Given the description of an element on the screen output the (x, y) to click on. 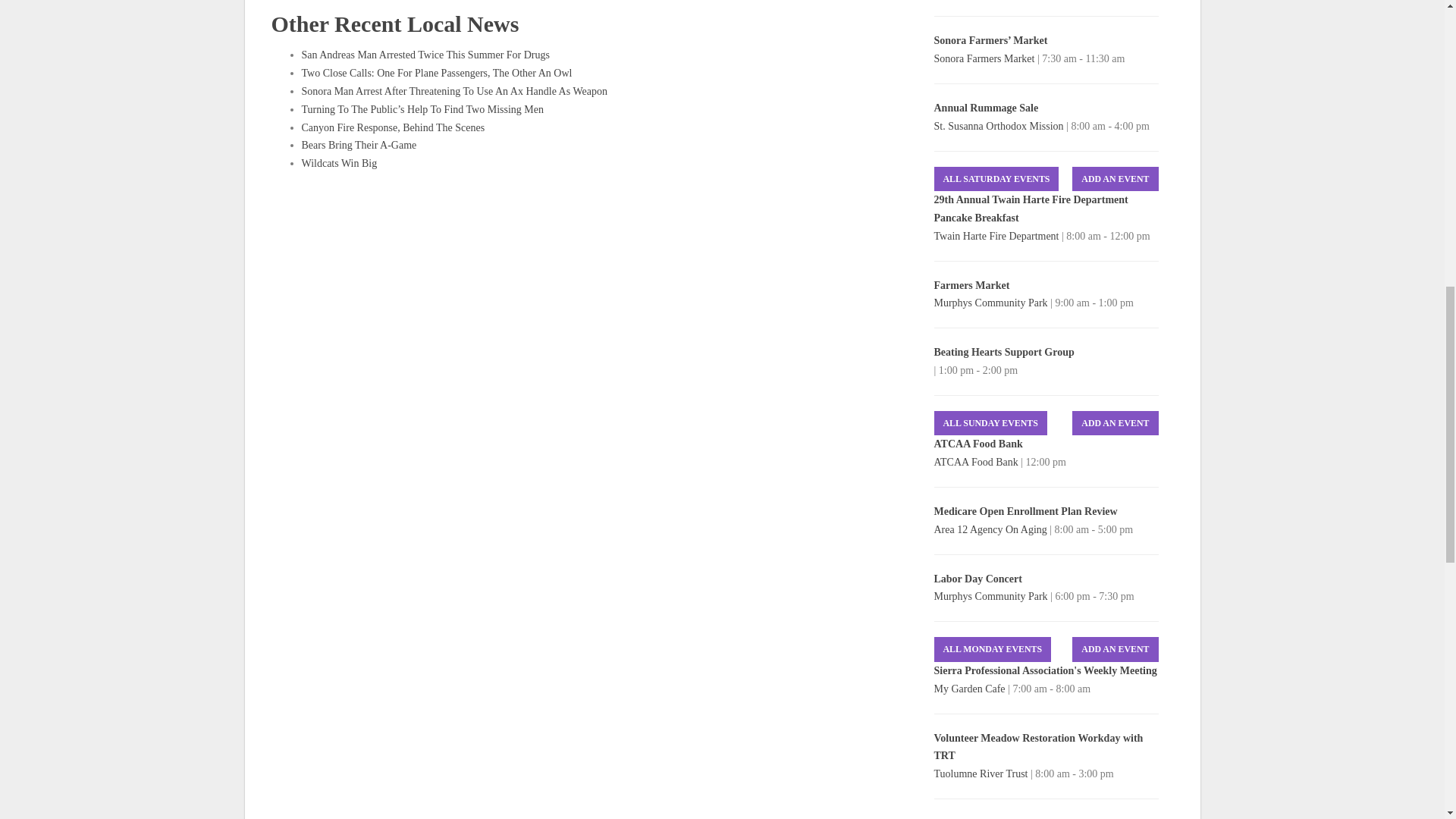
All Saturday Events (996, 179)
Add An Event (1114, 649)
Add An Event (1114, 179)
All Monday Events (992, 649)
All Sunday Events (990, 423)
Add An Event (1114, 423)
